Given the description of an element on the screen output the (x, y) to click on. 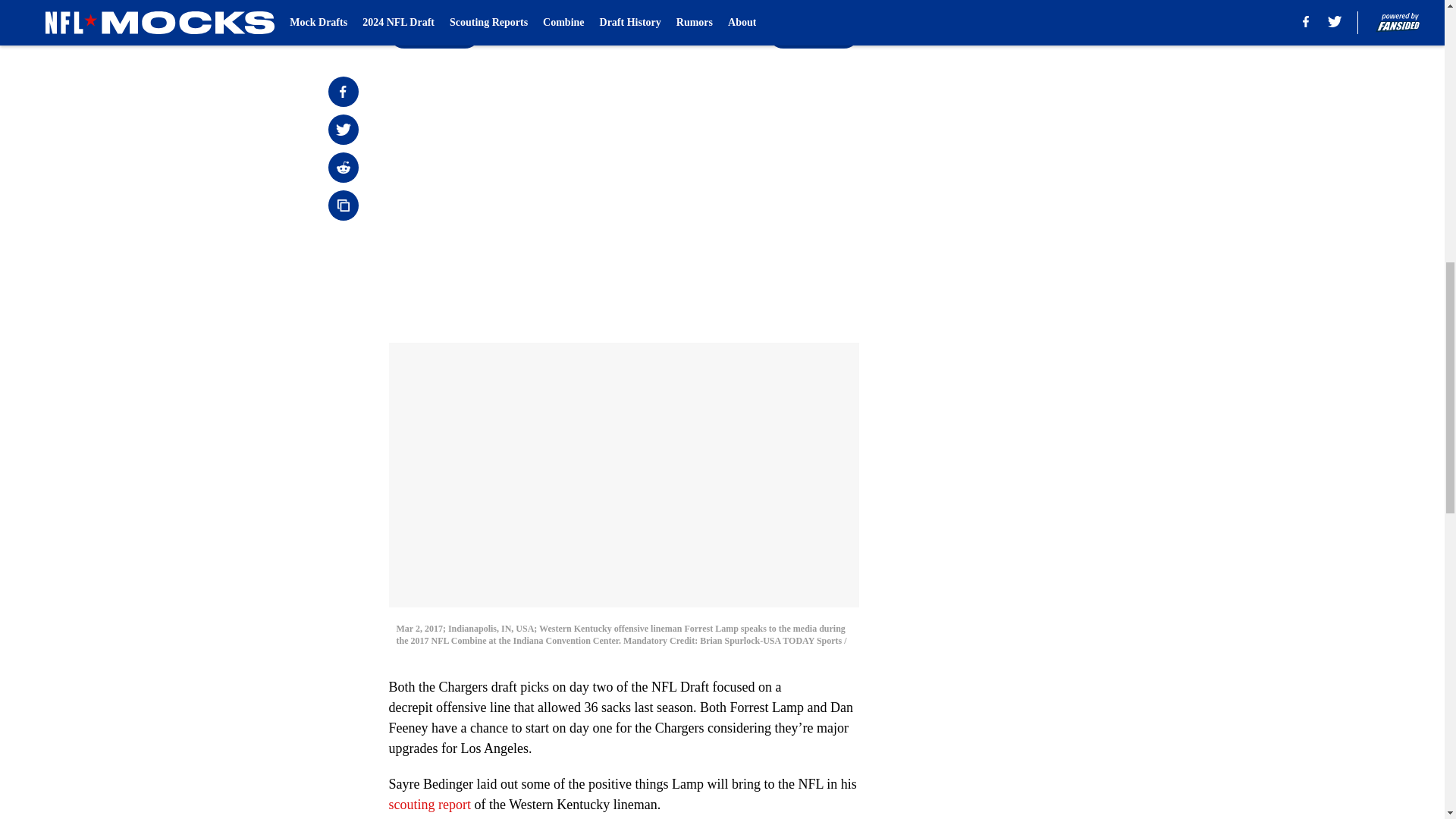
Prev (433, 33)
scouting report (429, 804)
Next (813, 33)
